Given the description of an element on the screen output the (x, y) to click on. 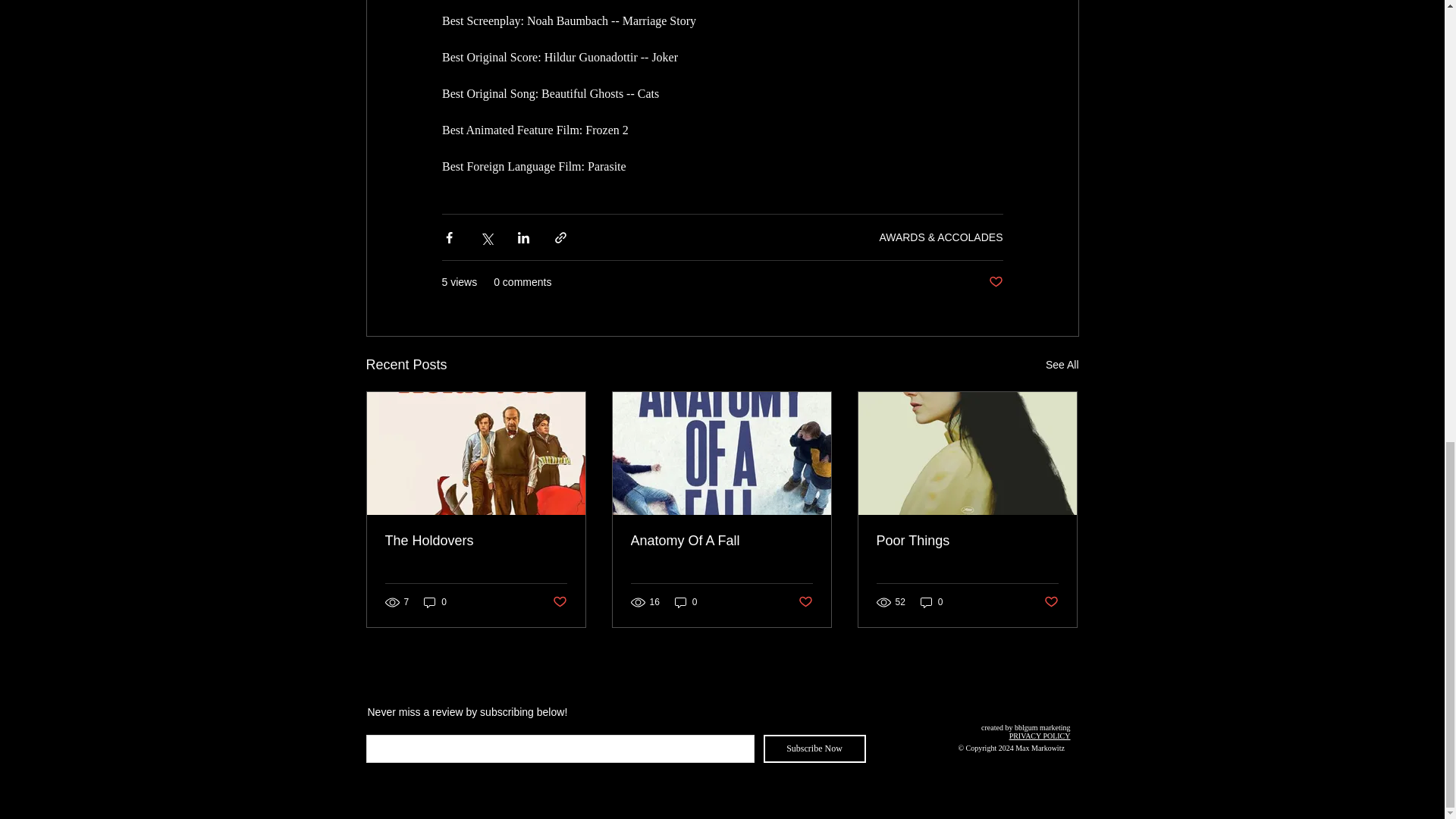
See All (1061, 364)
Anatomy Of A Fall (721, 540)
0 (435, 602)
Post not marked as liked (995, 282)
0 (685, 602)
0 (931, 602)
Poor Things (967, 540)
Post not marked as liked (1050, 601)
Post not marked as liked (804, 601)
Subscribe Now (813, 748)
Post not marked as liked (558, 601)
The Holdovers (476, 540)
PRIVACY POLICY (1039, 736)
